Given the description of an element on the screen output the (x, y) to click on. 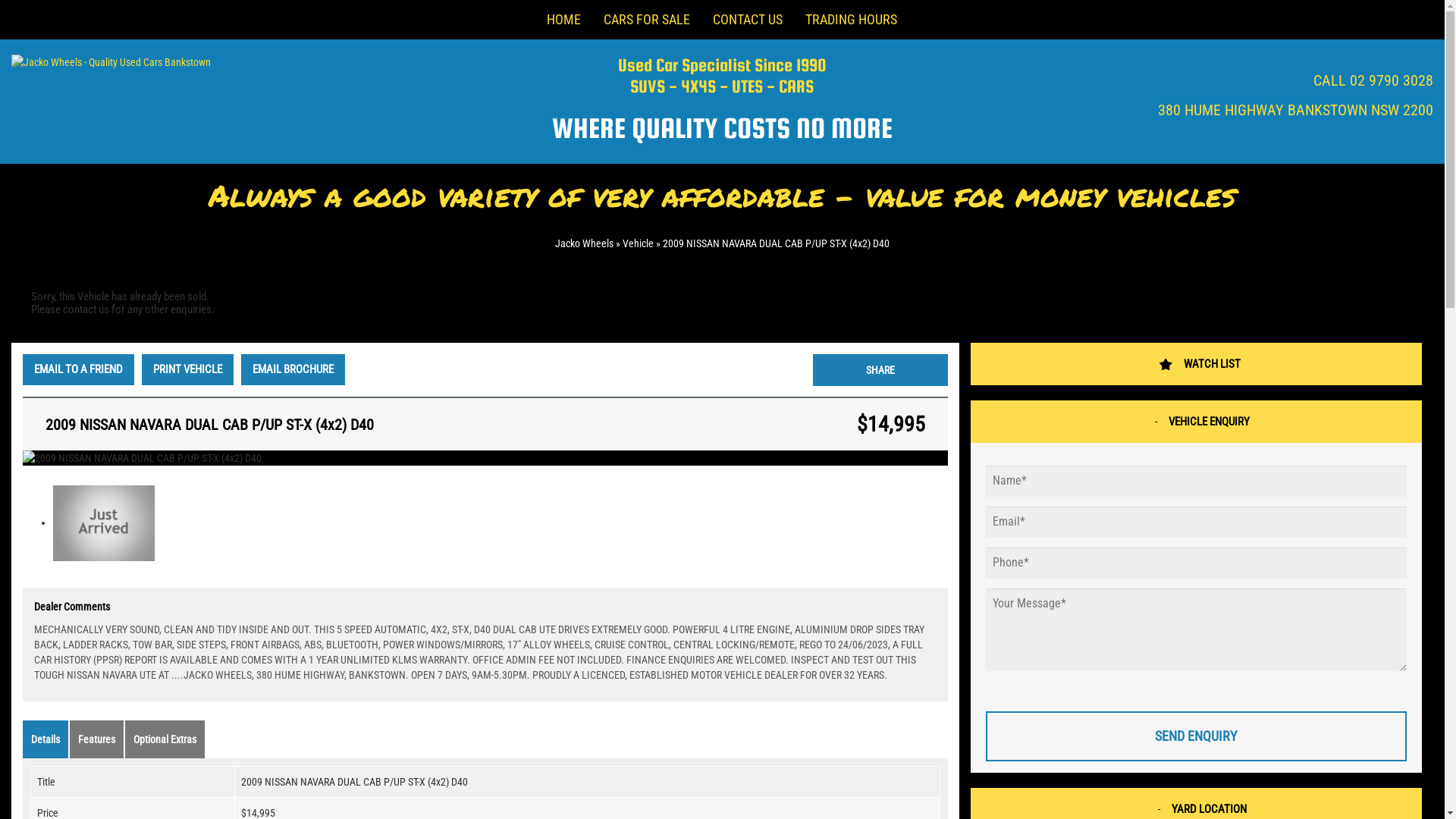
Jacko Wheels Element type: text (584, 243)
2009 NISSAN NAVARA DUAL CAB P/UP ST-X (4x2) D40 Element type: text (775, 243)
Vehicle Element type: text (637, 243)
WATCH LIST Element type: text (1211, 363)
CONTACT US Element type: text (746, 19)
EMAIL BROCHURE Element type: text (293, 369)
EMAIL TO A FRIEND Element type: text (78, 369)
TRADING HOURS Element type: text (850, 19)
PRINT VEHICLE Element type: text (187, 369)
02 9790 3028 Element type: text (1391, 80)
HOME Element type: text (563, 19)
WATCH LIST Element type: text (1195, 363)
SEND ENQUIRY Element type: text (1195, 736)
CARS FOR SALE Element type: text (645, 19)
